Given the description of an element on the screen output the (x, y) to click on. 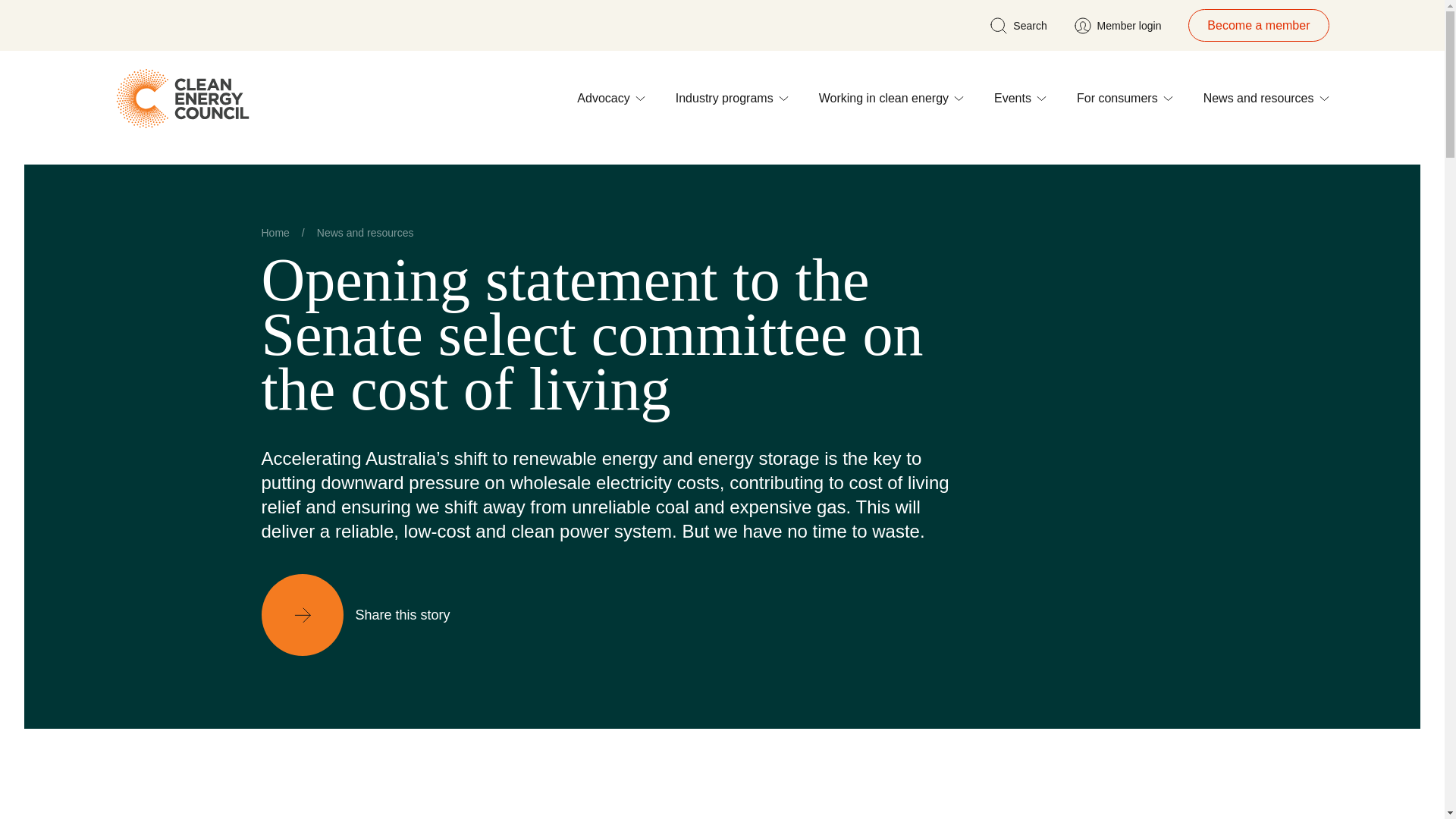
Search (1018, 24)
Advocacy (610, 98)
Industry programs (732, 98)
Member login (1117, 24)
Events (1020, 98)
Become a member (1257, 25)
Working in clean energy (890, 98)
